Given the description of an element on the screen output the (x, y) to click on. 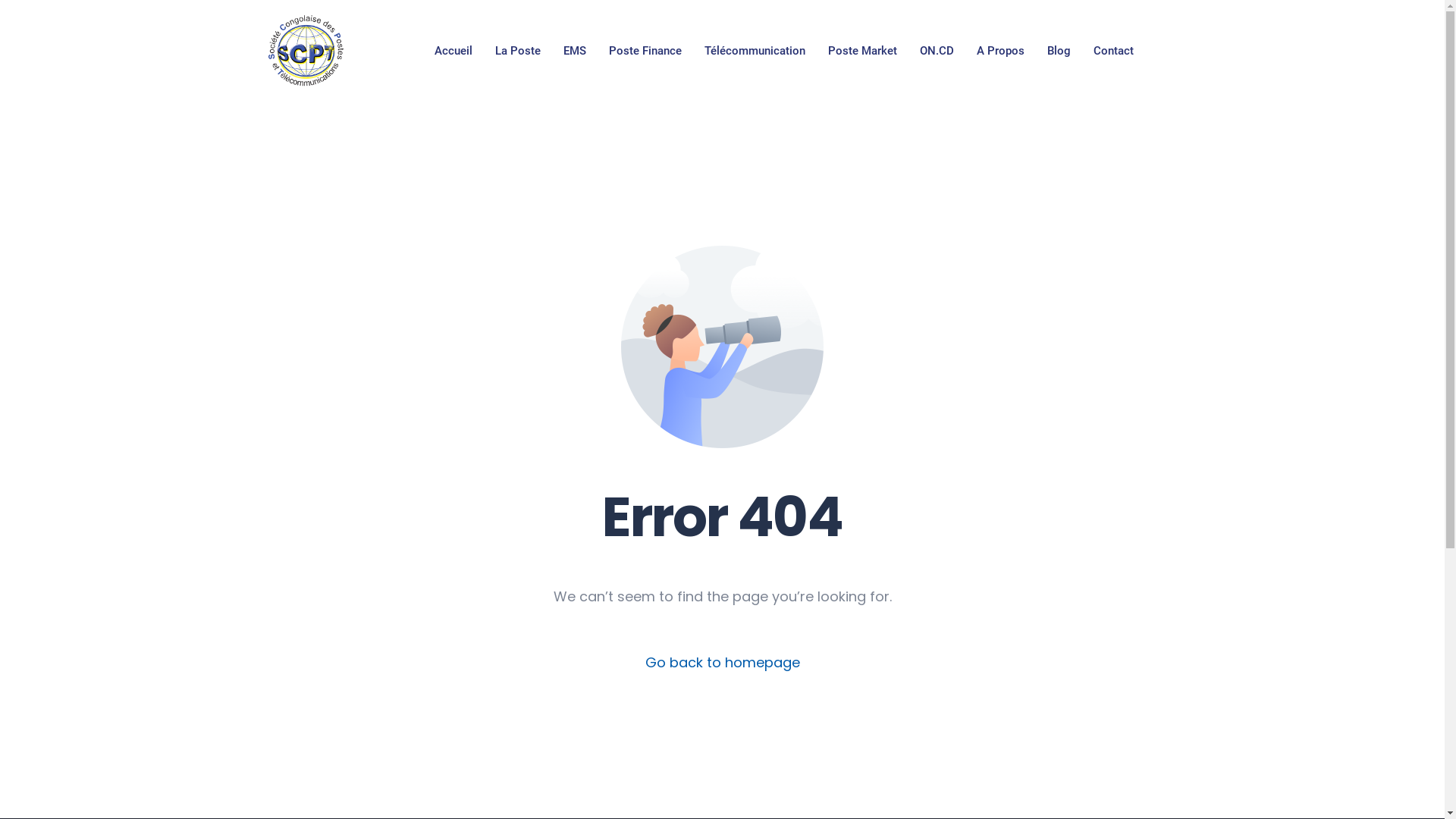
Go back to homepage Element type: text (721, 663)
Contact Element type: text (1113, 50)
Blog Element type: text (1058, 50)
EMS Element type: text (574, 50)
ON.CD Element type: text (936, 50)
A Propos Element type: text (1000, 50)
La Poste Element type: text (517, 50)
Accueil Element type: text (453, 50)
Poste Finance Element type: text (645, 50)
Poste Market Element type: text (862, 50)
